Given the description of an element on the screen output the (x, y) to click on. 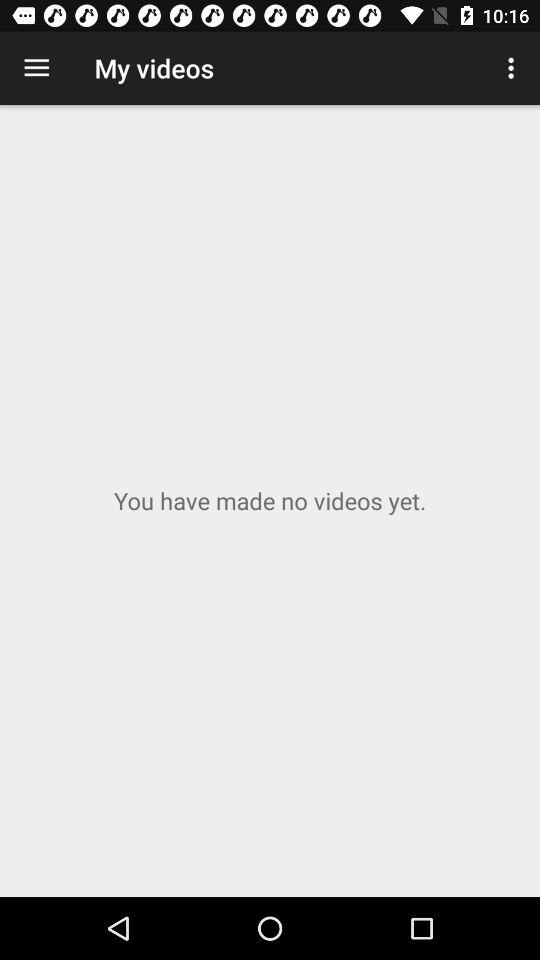
turn off the item next to the my videos (36, 68)
